Given the description of an element on the screen output the (x, y) to click on. 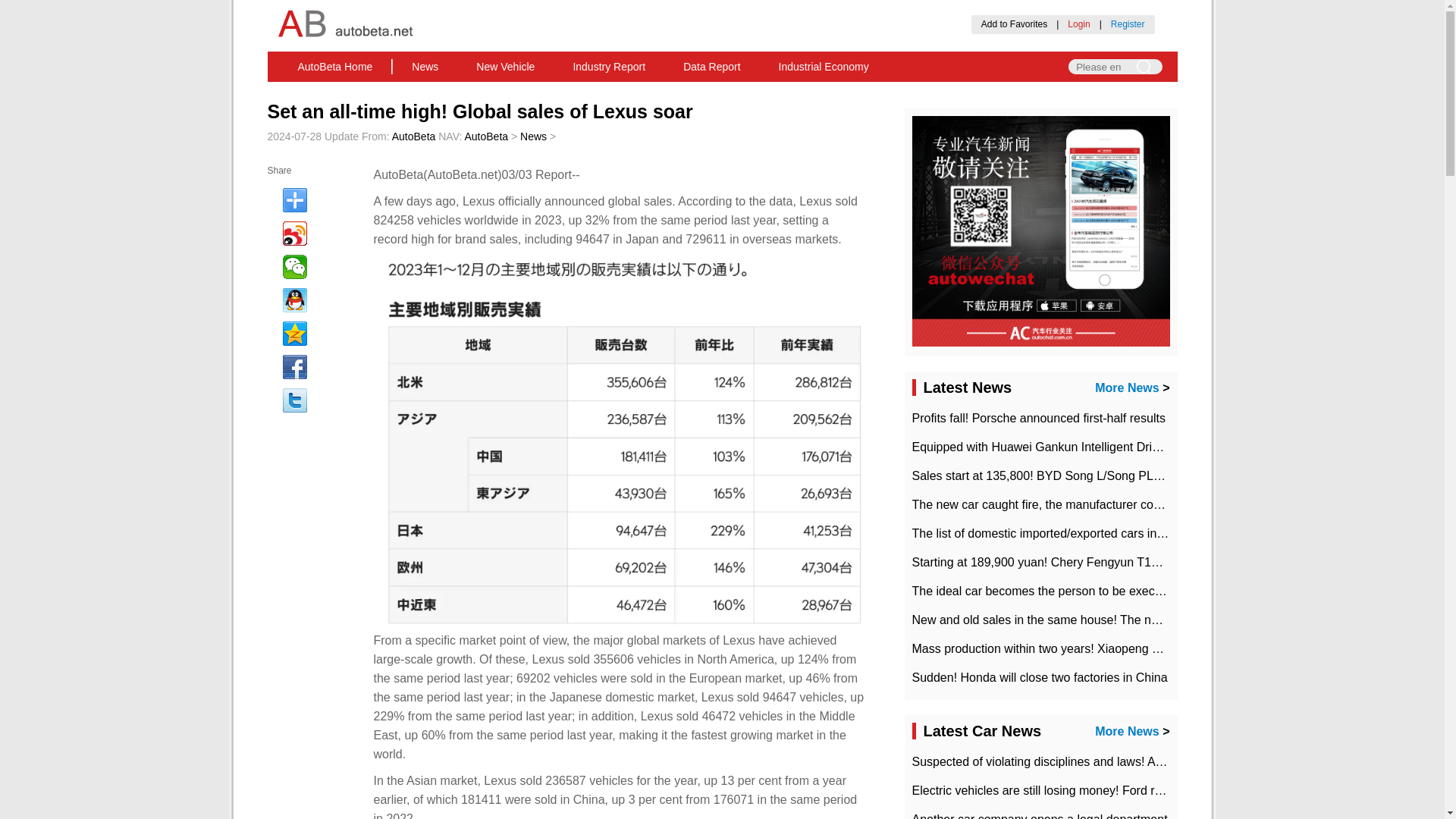
Industrial Economy (824, 66)
Share Weibo (293, 233)
Data Report (710, 66)
About us (589, 90)
Login (1078, 23)
AutoBeta (486, 136)
AutoBeta Home (335, 66)
News (425, 66)
Industrial Economy (824, 66)
New Vehicle (505, 66)
Data Report (710, 66)
Industry Report (608, 66)
New Vehicle (505, 66)
AutoBeta (335, 66)
Share QQ (293, 300)
